Given the description of an element on the screen output the (x, y) to click on. 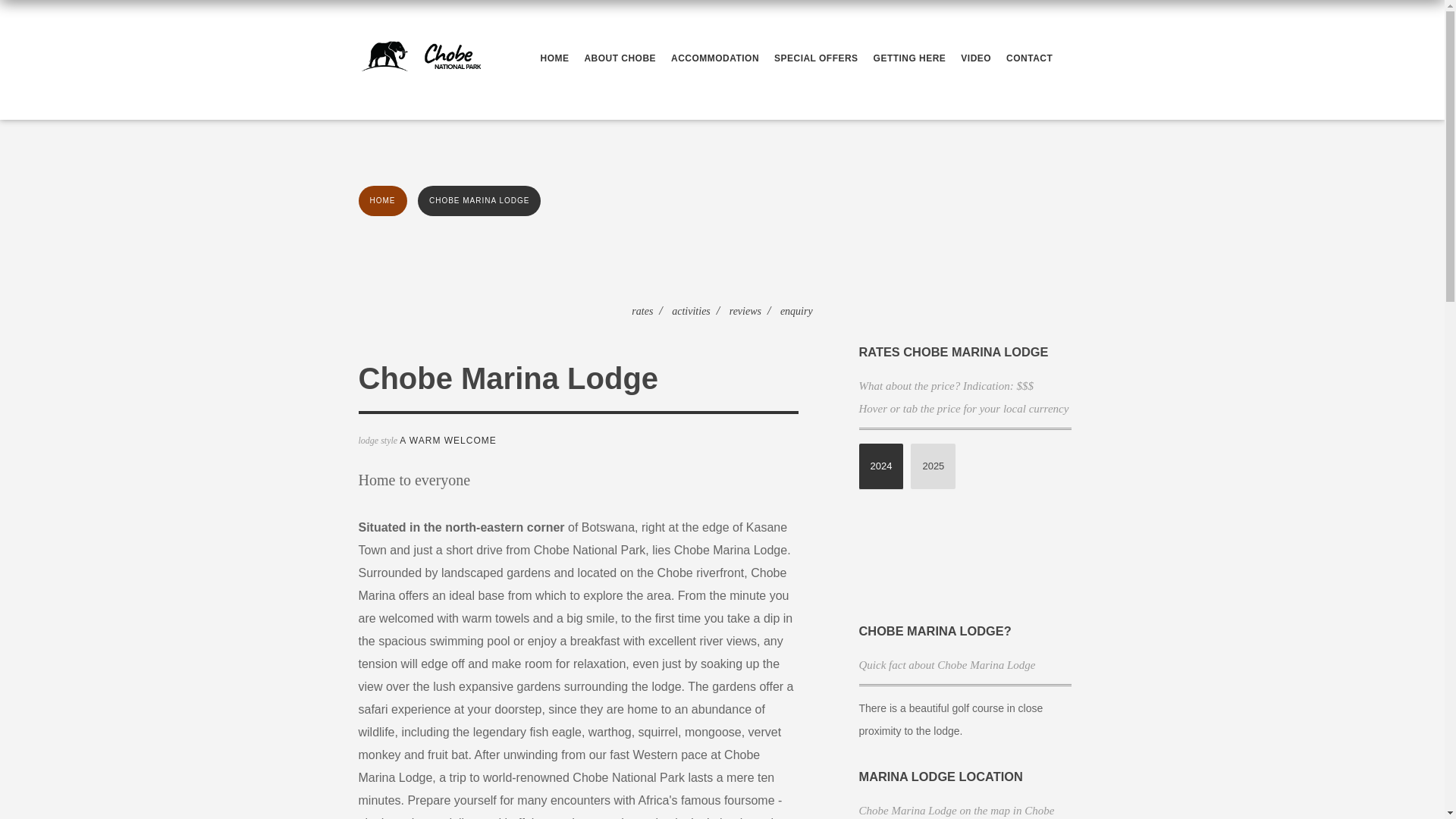
HOME (558, 57)
Chobe video (979, 57)
SPECIAL OFFERS (820, 57)
View Chobe lodges (719, 57)
Home (558, 57)
activities (690, 310)
About Chobe National Park (623, 57)
reviews (745, 310)
ABOUT CHOBE (623, 57)
GETTING HERE (913, 57)
